Given the description of an element on the screen output the (x, y) to click on. 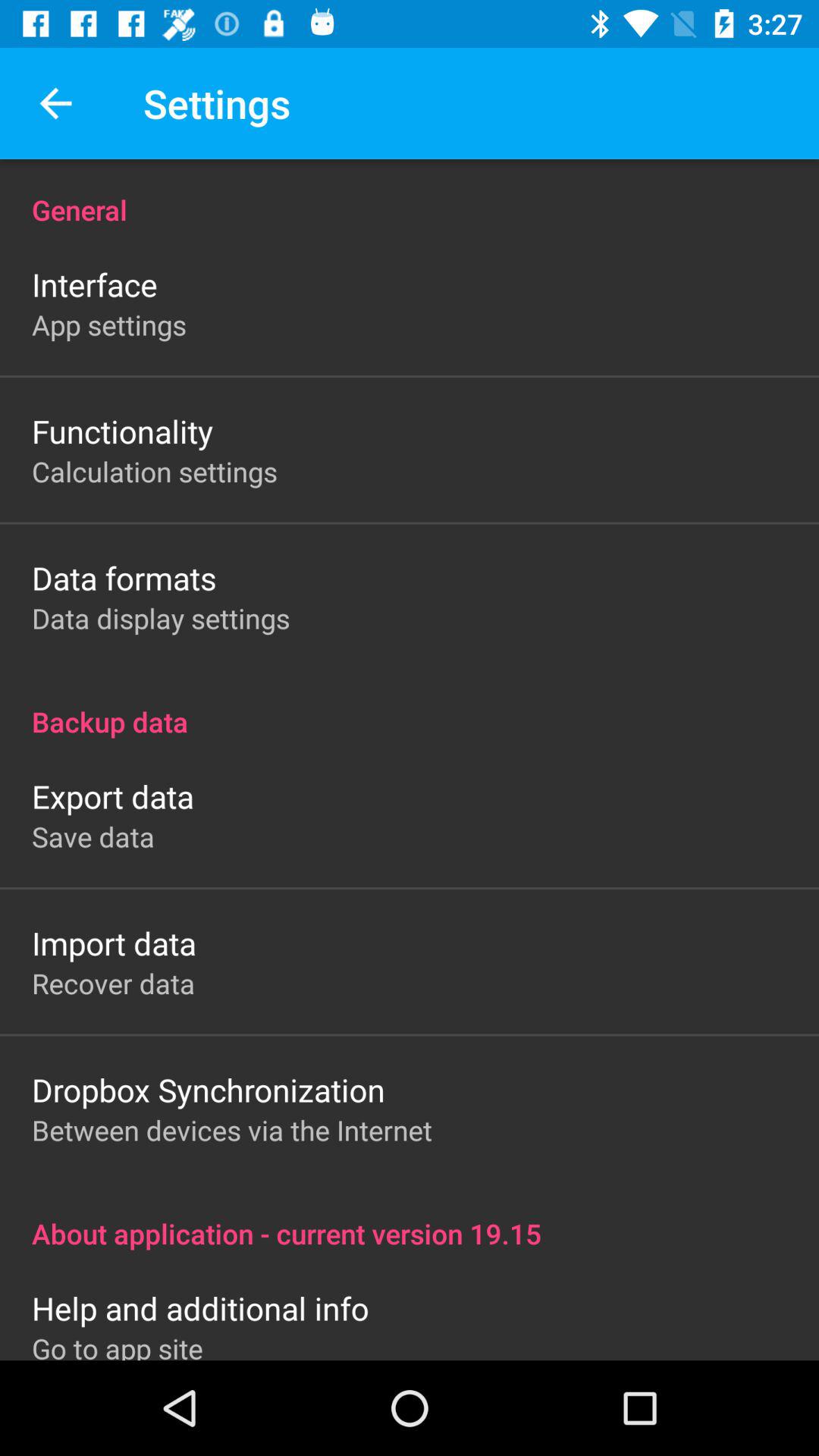
launch icon above recover data icon (113, 942)
